Given the description of an element on the screen output the (x, y) to click on. 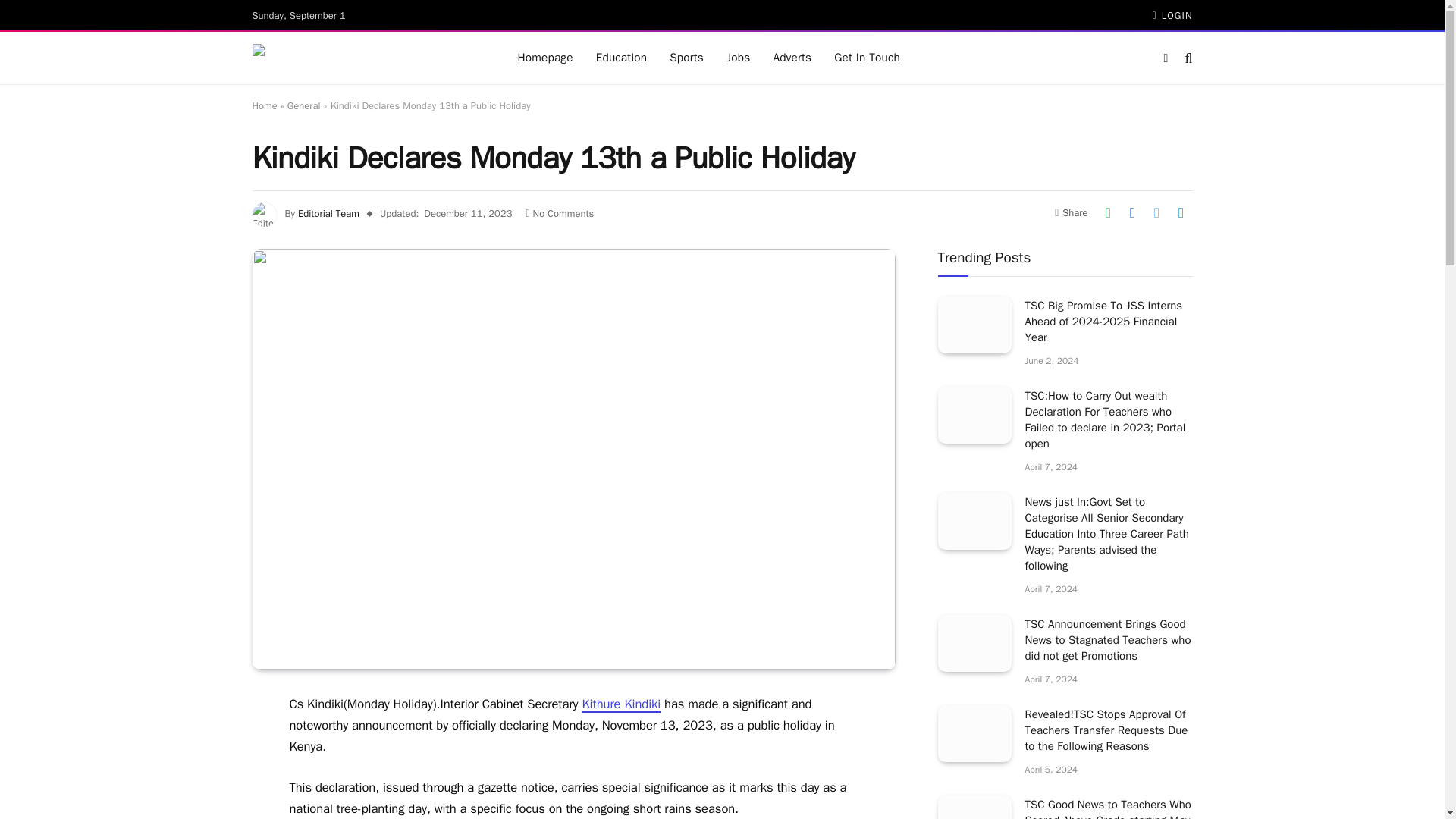
Share on Facebook (1131, 212)
Switch to Dark Design - easier on eyes. (1165, 57)
Share on WhatsApp (1107, 212)
Sports (686, 57)
Home (263, 105)
No Comments (559, 213)
Share on Telegram (1180, 212)
Homepage (545, 57)
General (303, 105)
